Given the description of an element on the screen output the (x, y) to click on. 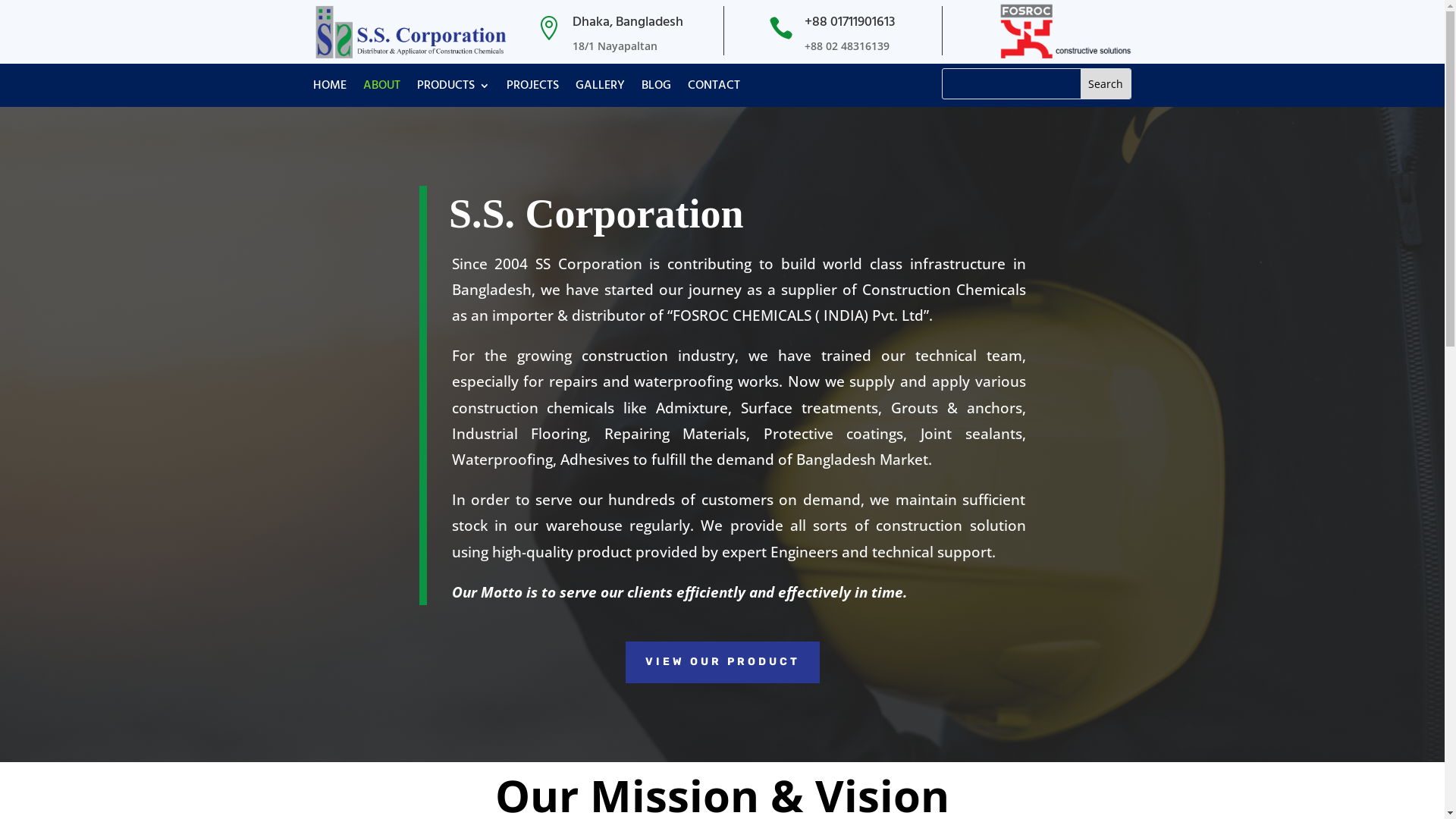
PROJECTS Element type: text (532, 88)
BLOG Element type: text (656, 88)
VIEW OUR PRODUCT Element type: text (721, 662)
PRODUCTS Element type: text (453, 88)
HOME Element type: text (328, 88)
ABOUT Element type: text (380, 88)
Search Element type: text (1105, 83)
GALLERY Element type: text (599, 88)
CONTACT Element type: text (713, 88)
